Given the description of an element on the screen output the (x, y) to click on. 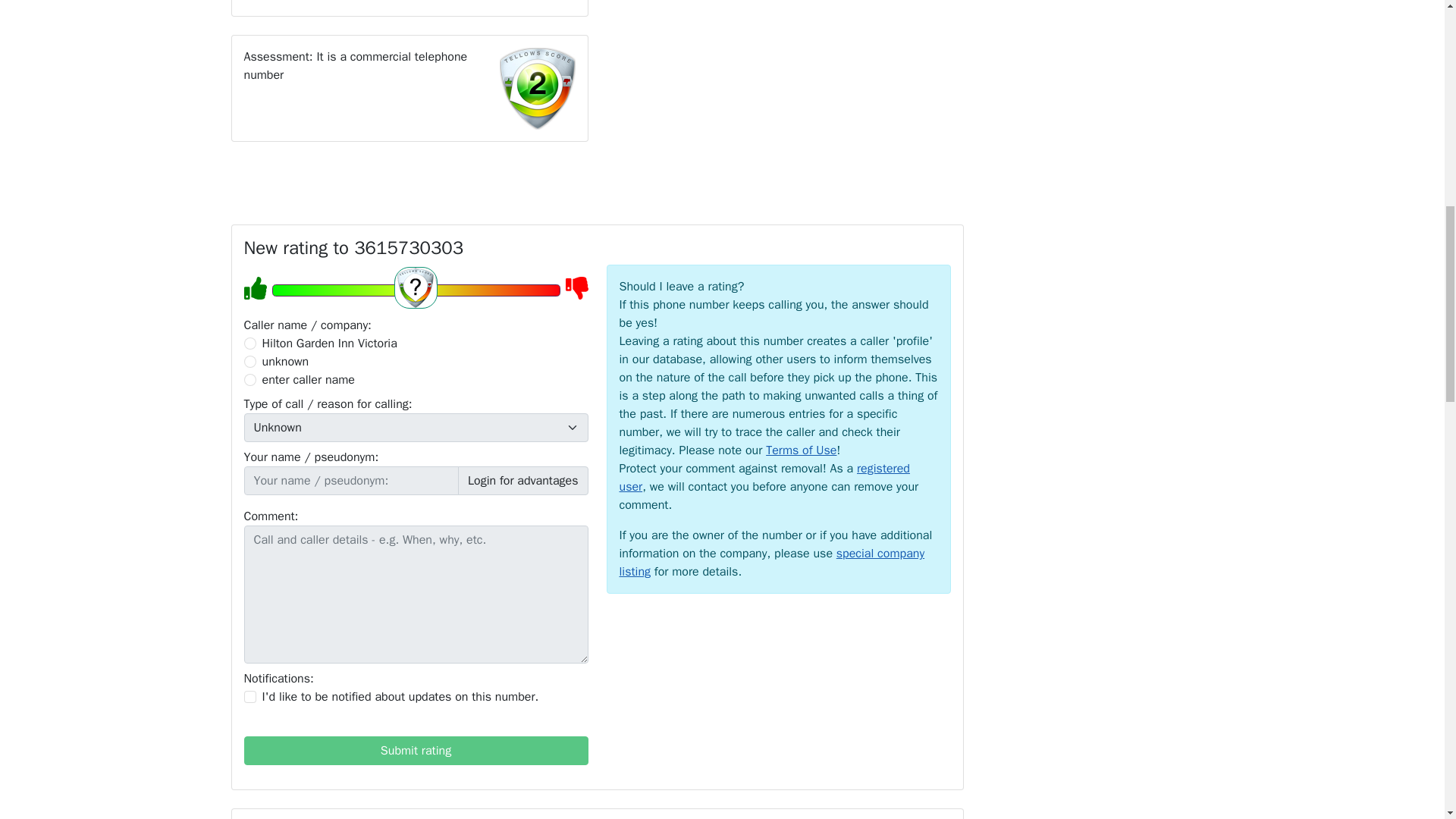
2 (250, 361)
registered user (763, 477)
1 (250, 696)
Submit rating (416, 750)
Terms of Use (800, 450)
Submit rating (416, 750)
3 (250, 379)
Login for advantages (523, 480)
special company listing (771, 562)
5 (414, 290)
0 (250, 343)
